Given the description of an element on the screen output the (x, y) to click on. 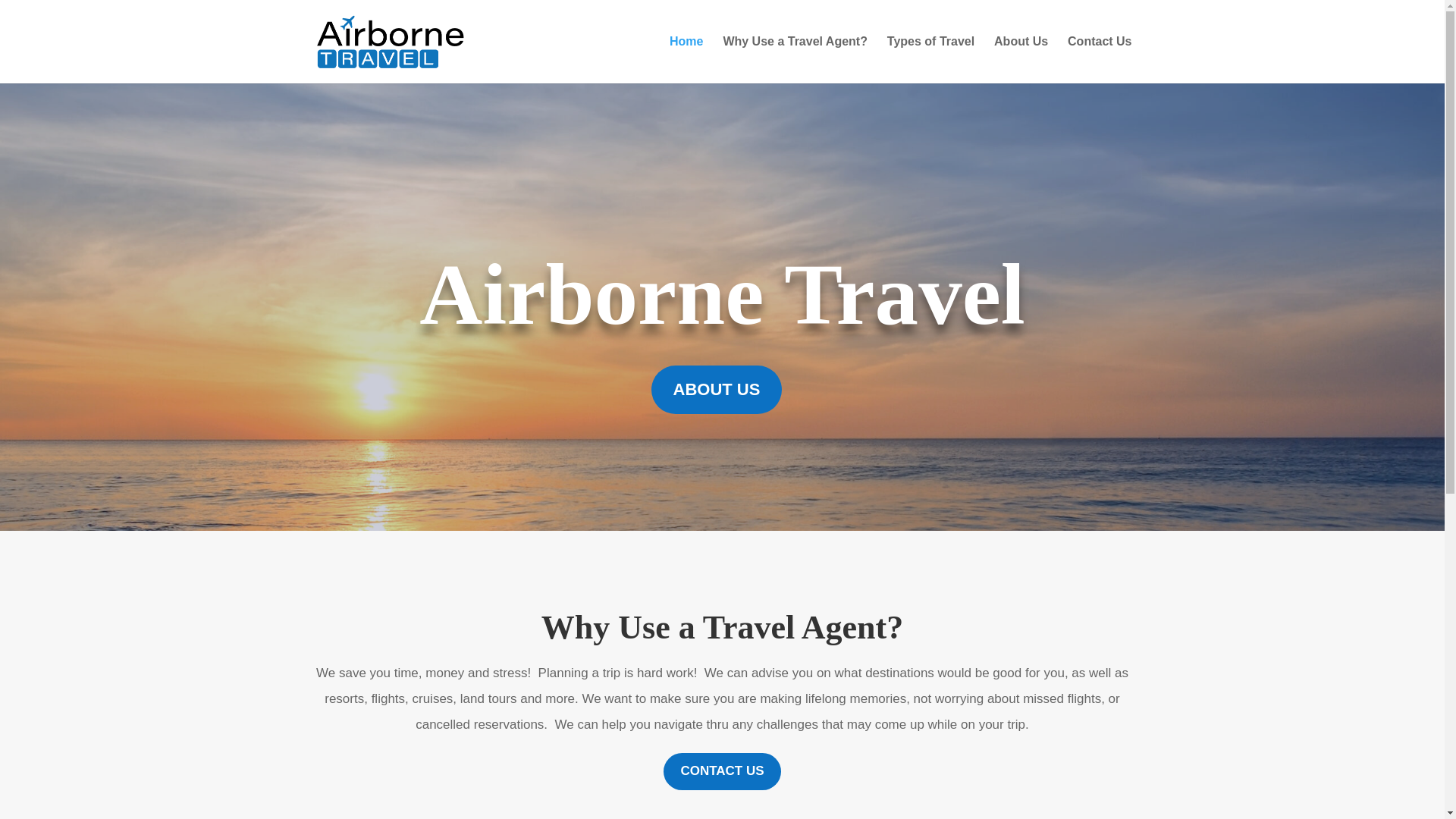
Contact Us (1099, 59)
Types of Travel (930, 59)
About Us (1021, 59)
Why Use a Travel Agent? (794, 59)
ABOUT US (716, 389)
CONTACT US (721, 771)
